Given the description of an element on the screen output the (x, y) to click on. 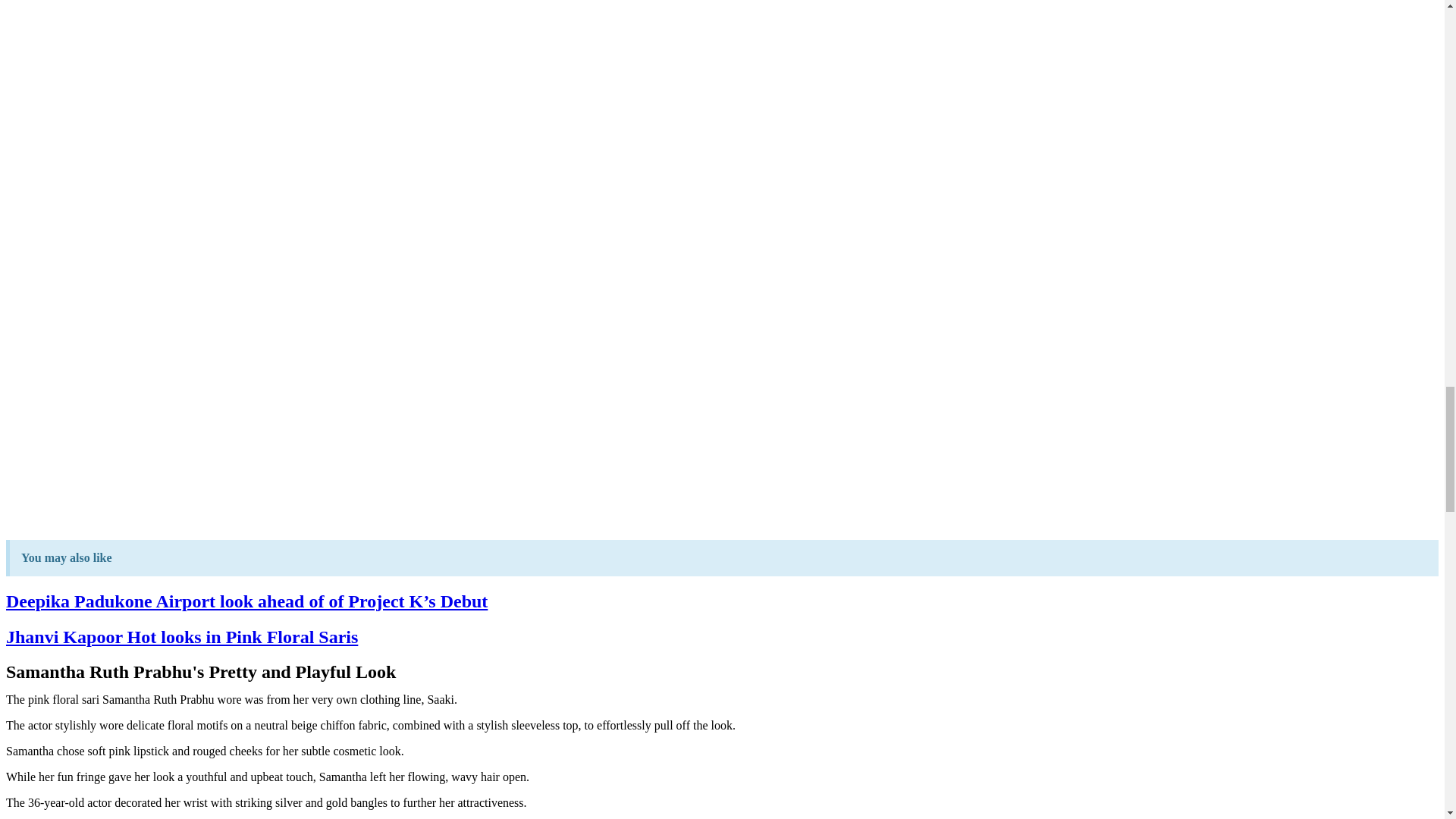
Jhanvi Kapoor Hot looks in Pink Floral Saris (181, 637)
